Given the description of an element on the screen output the (x, y) to click on. 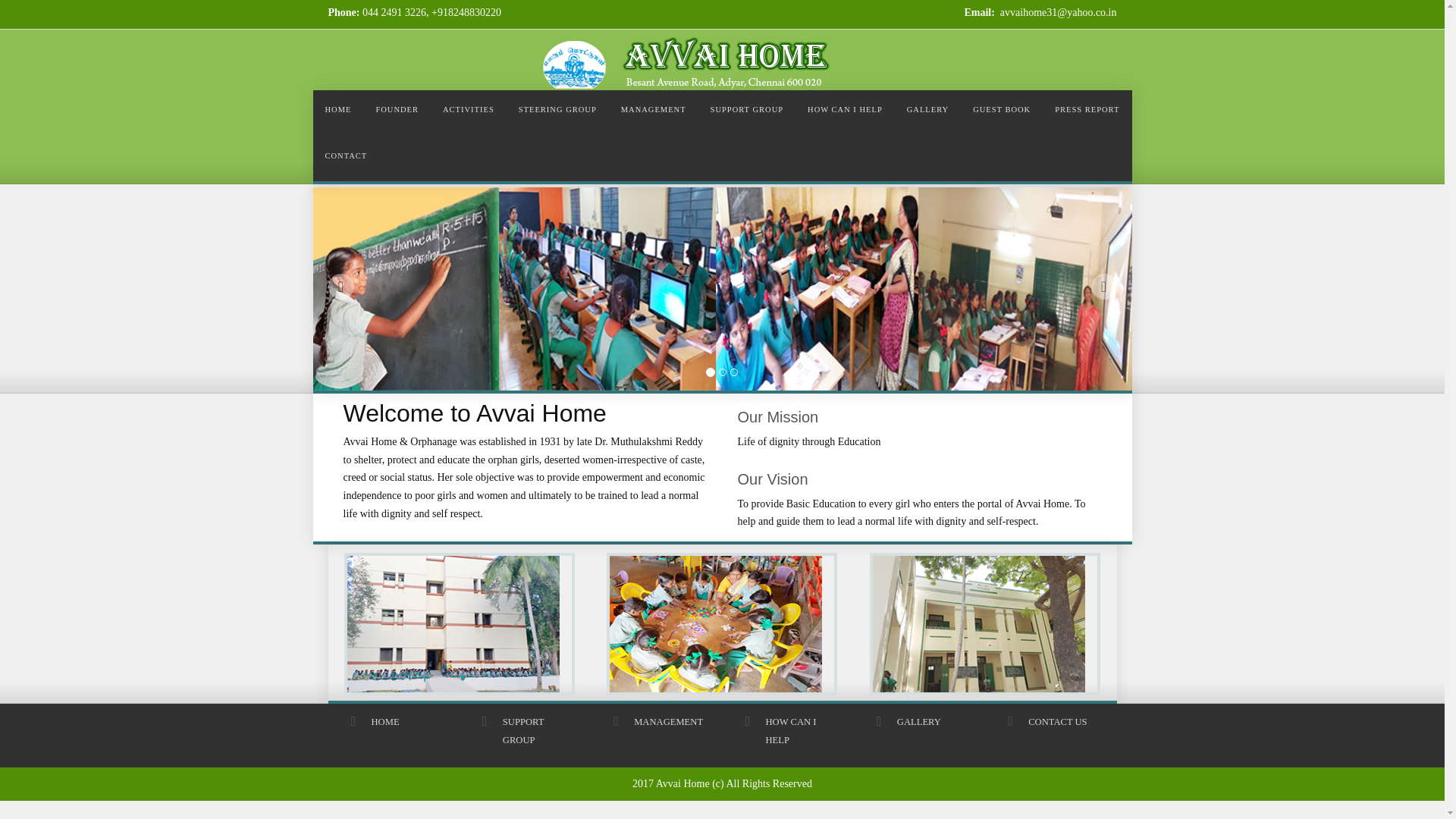
HOME (337, 113)
FOUNDER (396, 113)
